Given the description of an element on the screen output the (x, y) to click on. 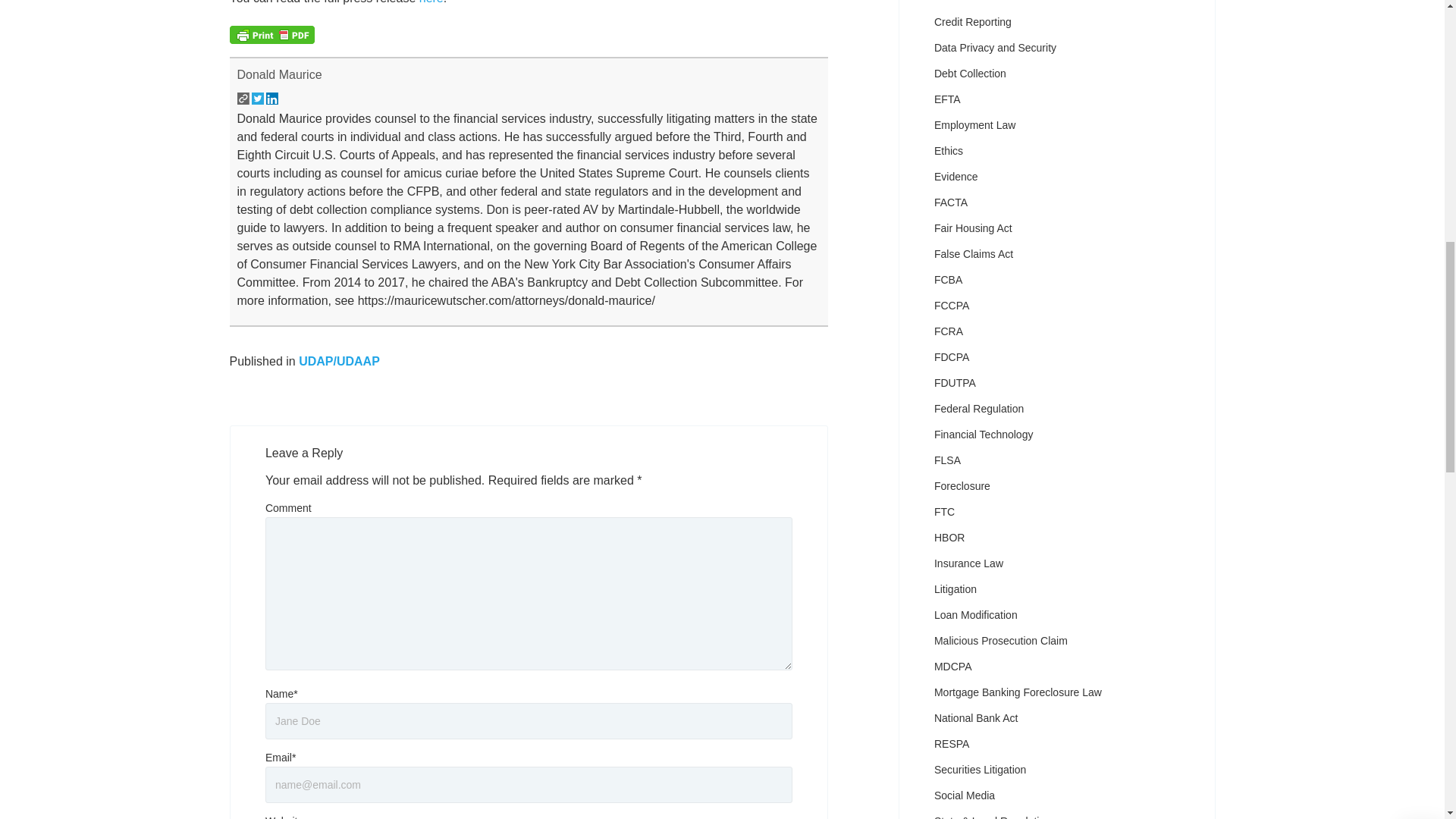
here (431, 2)
Donald Maurice (278, 74)
All posts by Donald Maurice (278, 74)
